Given the description of an element on the screen output the (x, y) to click on. 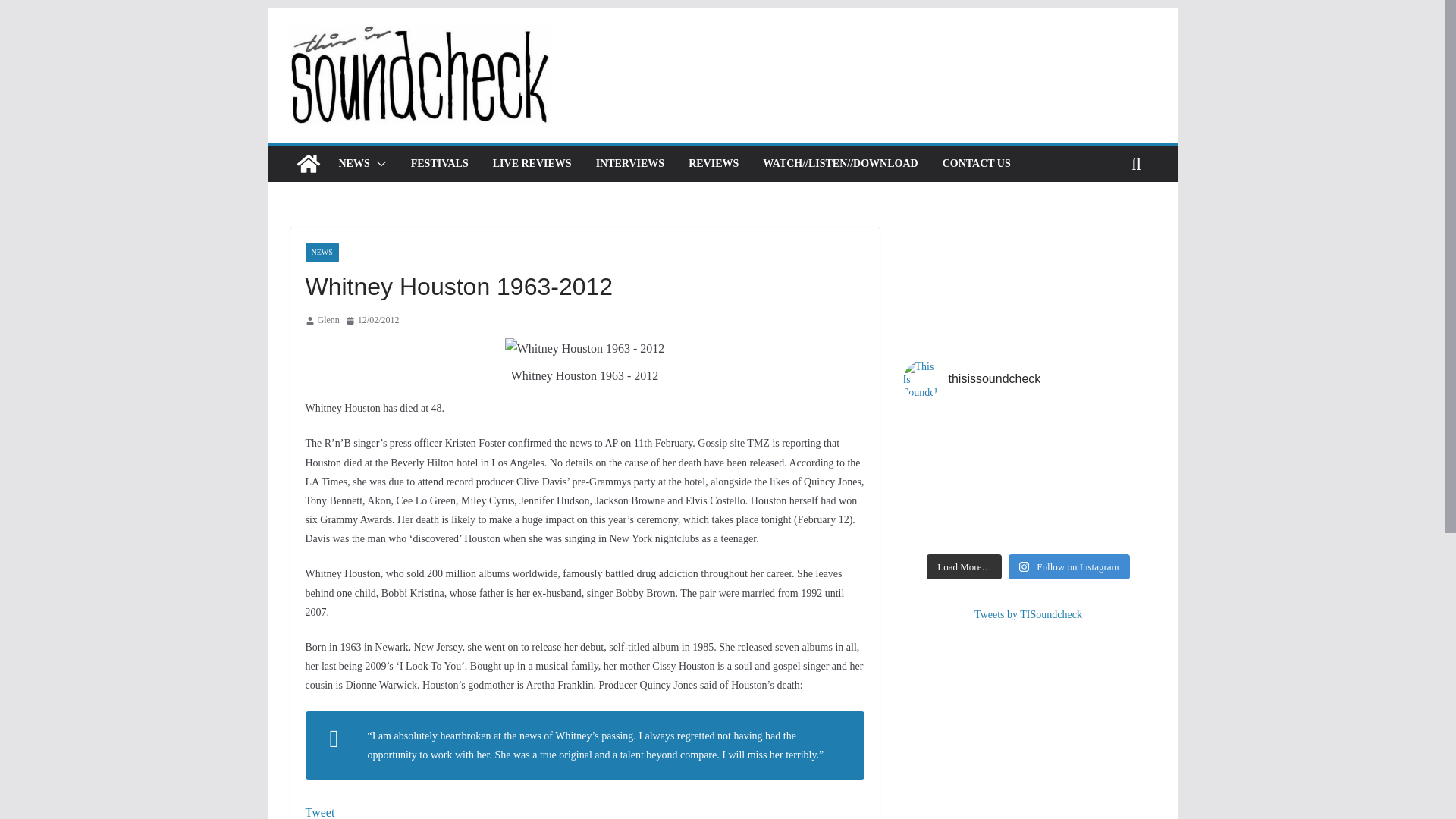
REVIEWS (713, 163)
This Is Soundcheck (307, 163)
Spotify Embed: This Is Soundcheck (1028, 281)
11:49 am (372, 320)
Glenn (328, 320)
Tweet (319, 812)
CONTACT US (976, 163)
Whitney Houston 1963 - 2012 (585, 349)
NEWS (353, 163)
thisissoundcheck (1027, 379)
NEWS (320, 252)
Tweets by TISoundcheck (1027, 614)
FESTIVALS (439, 163)
LIVE REVIEWS (532, 163)
